Given the description of an element on the screen output the (x, y) to click on. 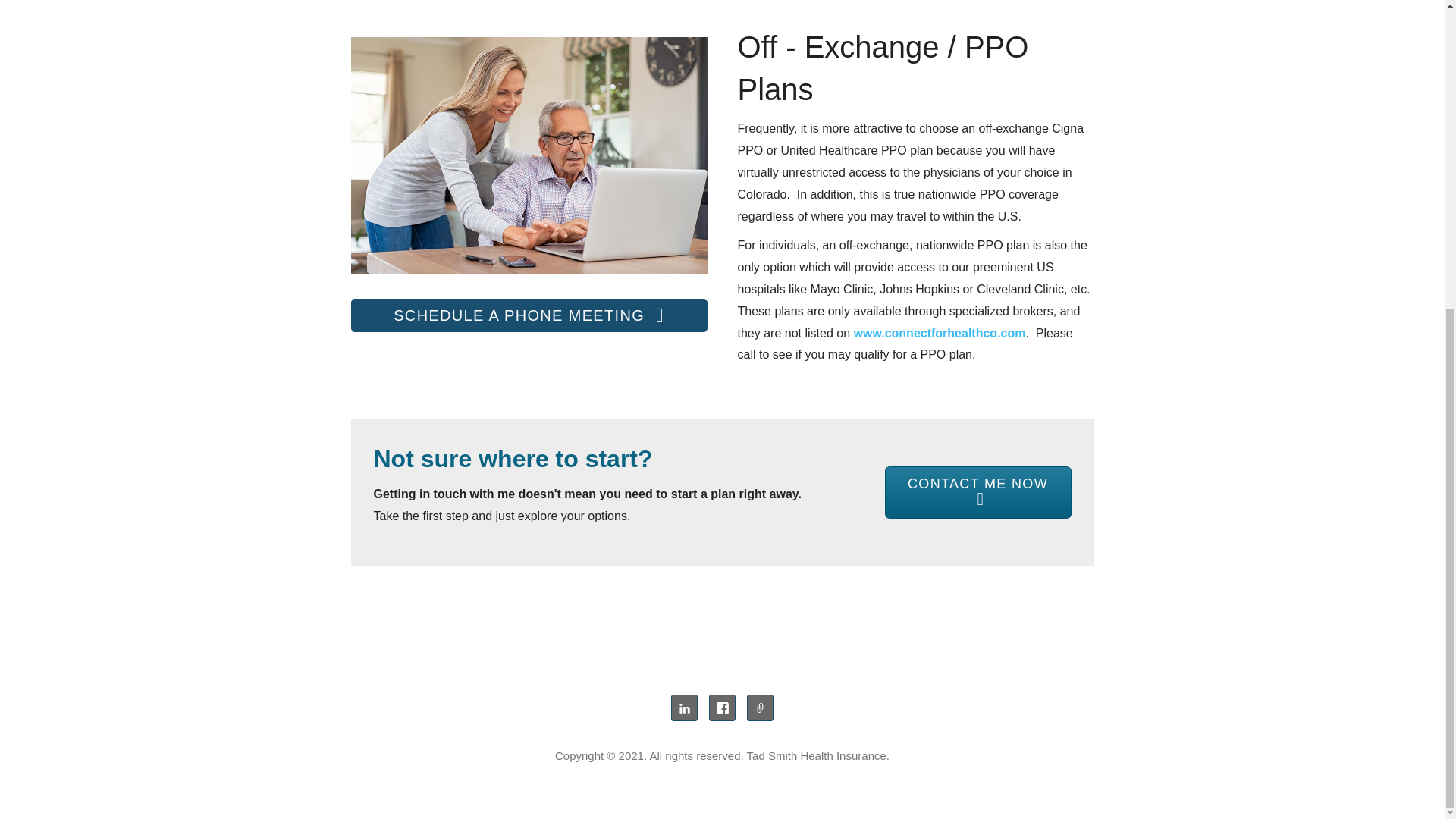
YELP (759, 707)
LINKEDIN (684, 707)
CONTACT ME NOW (976, 492)
SCHEDULE A PHONE MEETING (528, 315)
www.connectforhealthco.com (939, 332)
FACEBOOK (722, 707)
